Given the description of an element on the screen output the (x, y) to click on. 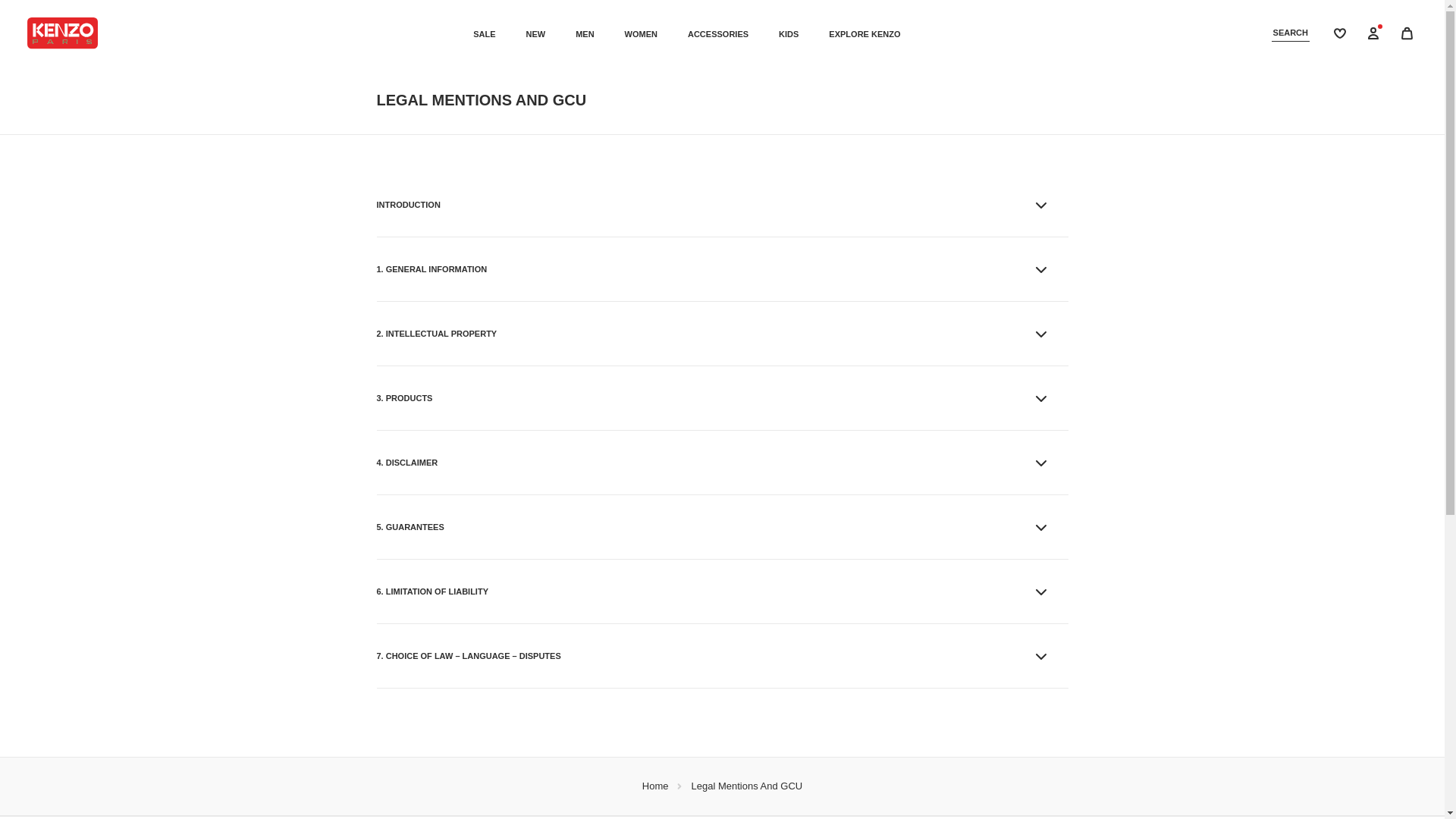
SALE (484, 33)
Official KENZO website (62, 33)
Official KENZO website (62, 33)
